Given the description of an element on the screen output the (x, y) to click on. 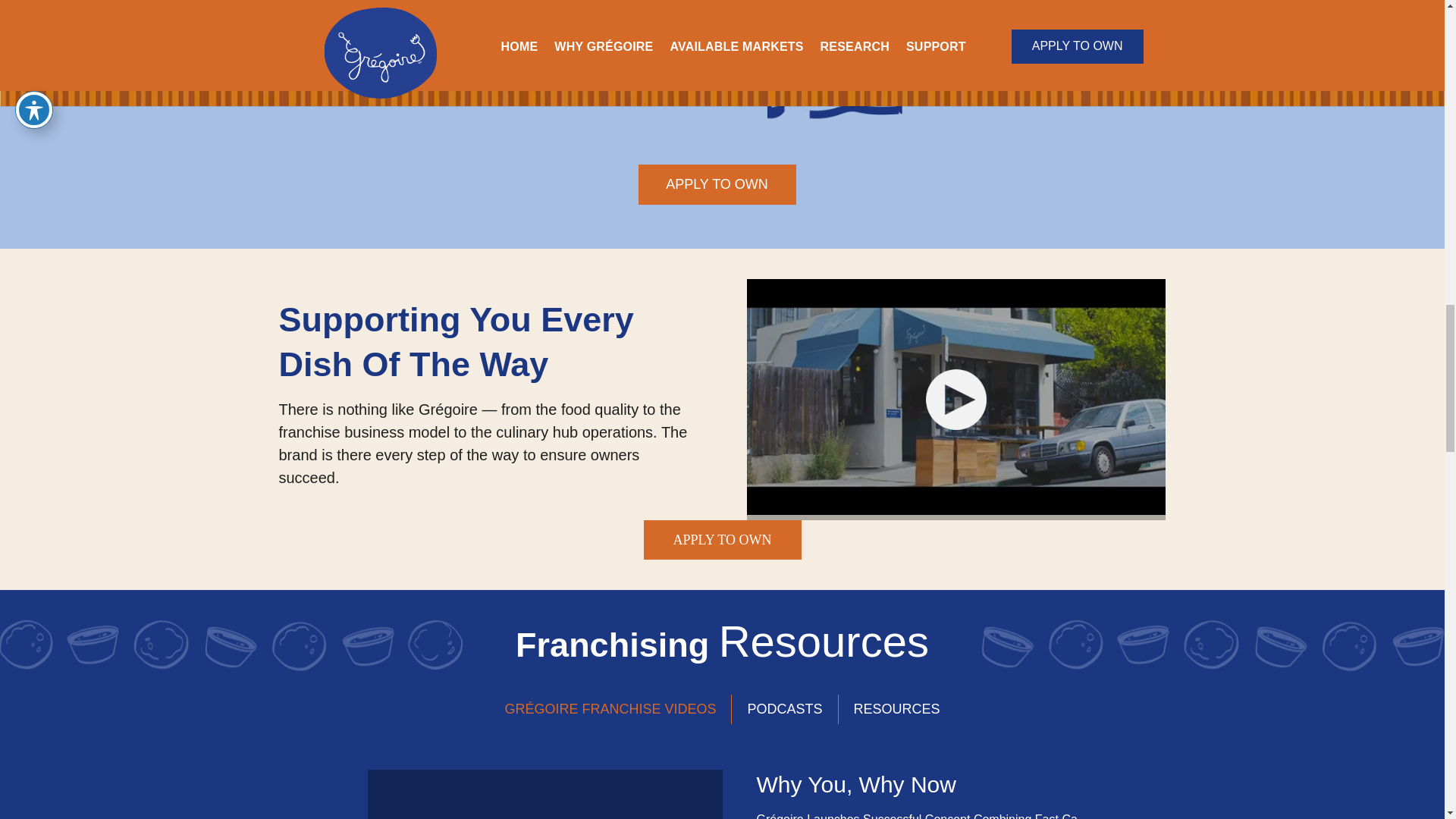
APPLY TO OWN (717, 183)
APPLY TO OWN (721, 539)
Why-You (823, 60)
